Given the description of an element on the screen output the (x, y) to click on. 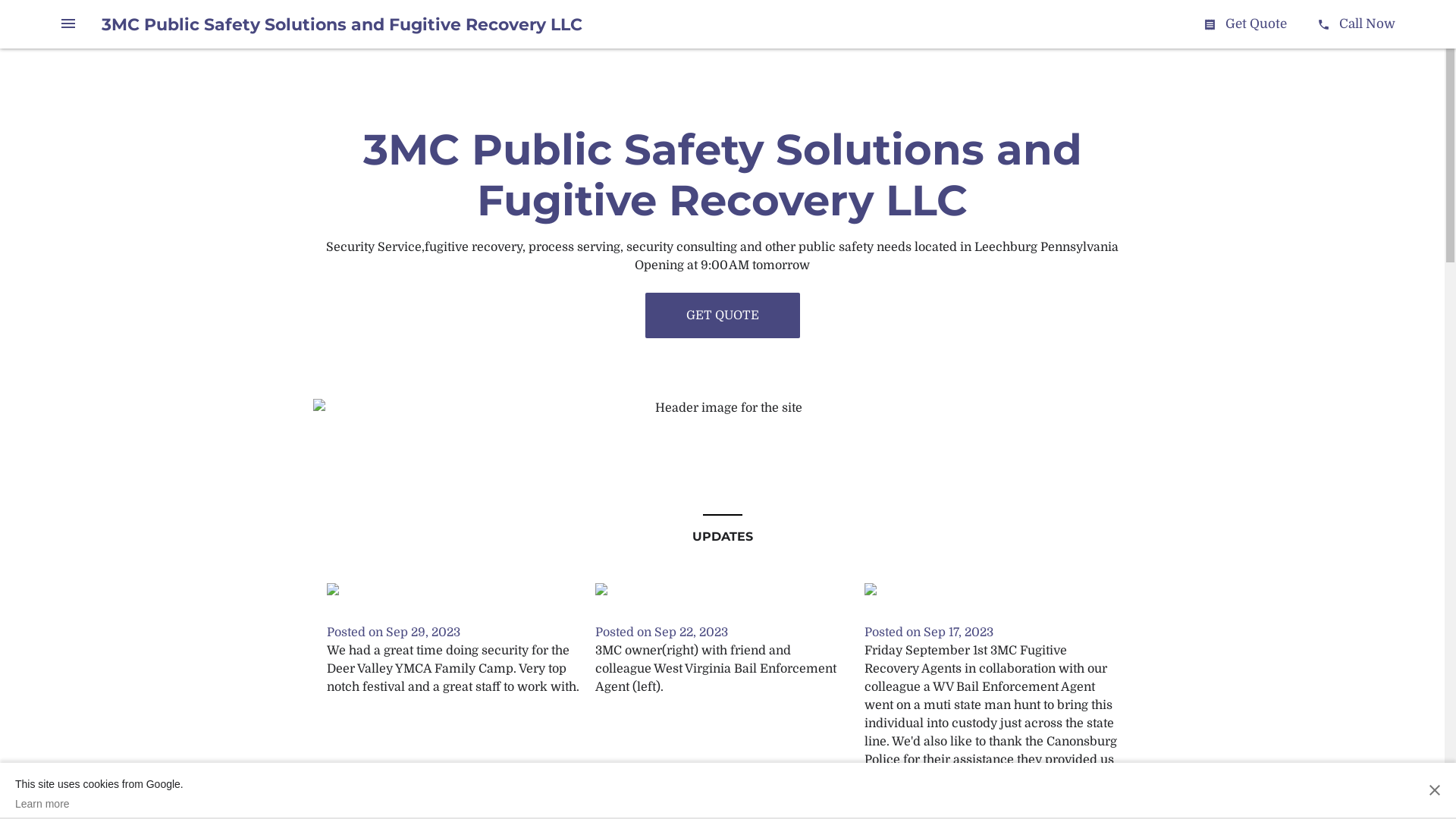
Posted on Sep 29, 2023 Element type: text (392, 632)
Learn more Element type: text (99, 803)
3MC Public Safety Solutions and Fugitive Recovery LLC Element type: text (341, 23)
Posted on Sep 22, 2023 Element type: text (661, 632)
GET QUOTE Element type: text (721, 315)
Posted on Sep 17, 2023 Element type: text (928, 632)
